Given the description of an element on the screen output the (x, y) to click on. 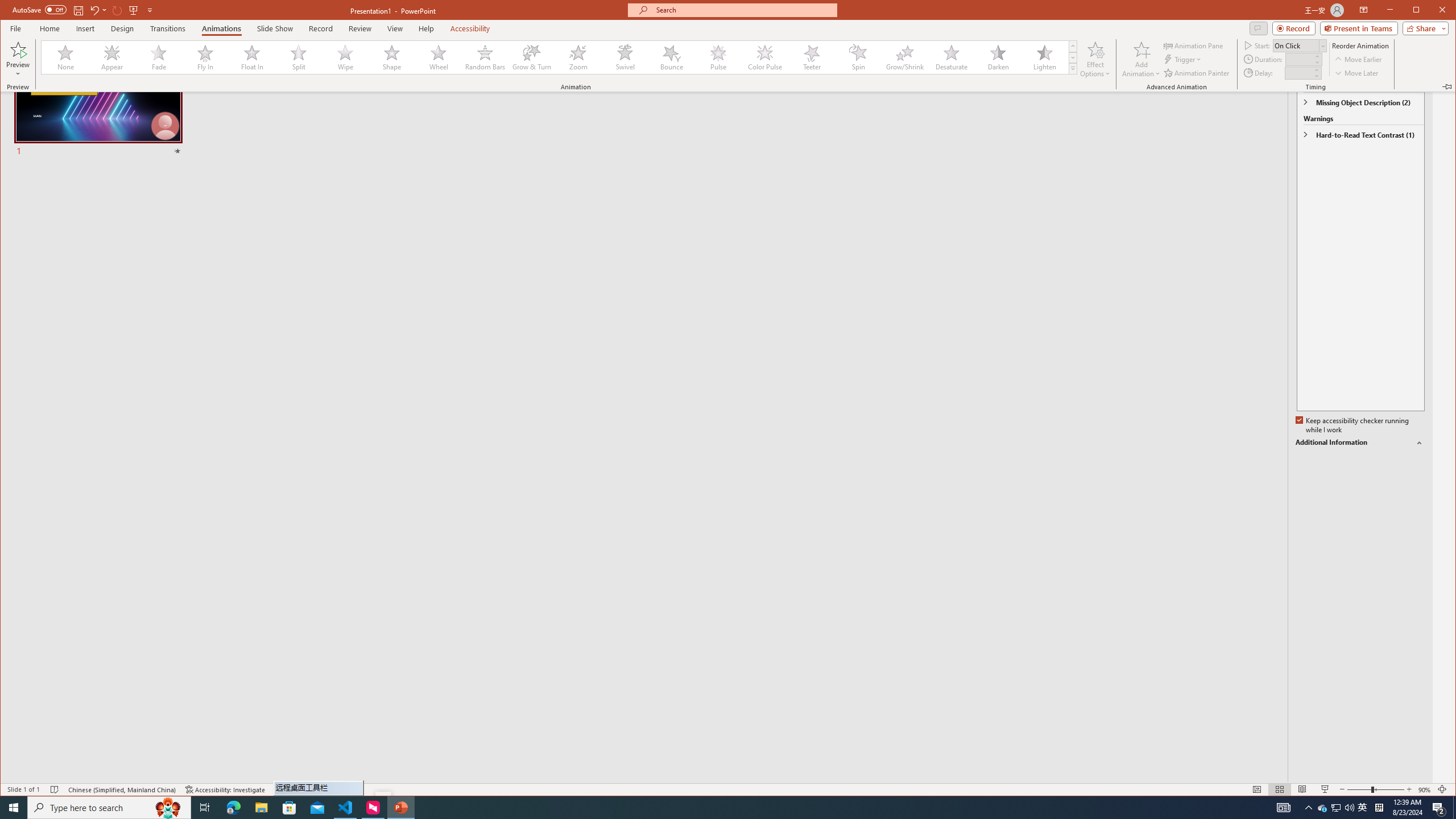
Customize Quick Access Toolbar (150, 9)
Design (122, 28)
From Beginning (133, 9)
Task View (204, 807)
Normal (1256, 789)
Class: MsoCommandBar (728, 789)
AutomationID: 4105 (1283, 807)
Running applications (700, 807)
Action Center, 2 new notifications (1439, 807)
AutoSave (38, 9)
Slide Sorter (1279, 789)
Zoom (1374, 789)
